Given the description of an element on the screen output the (x, y) to click on. 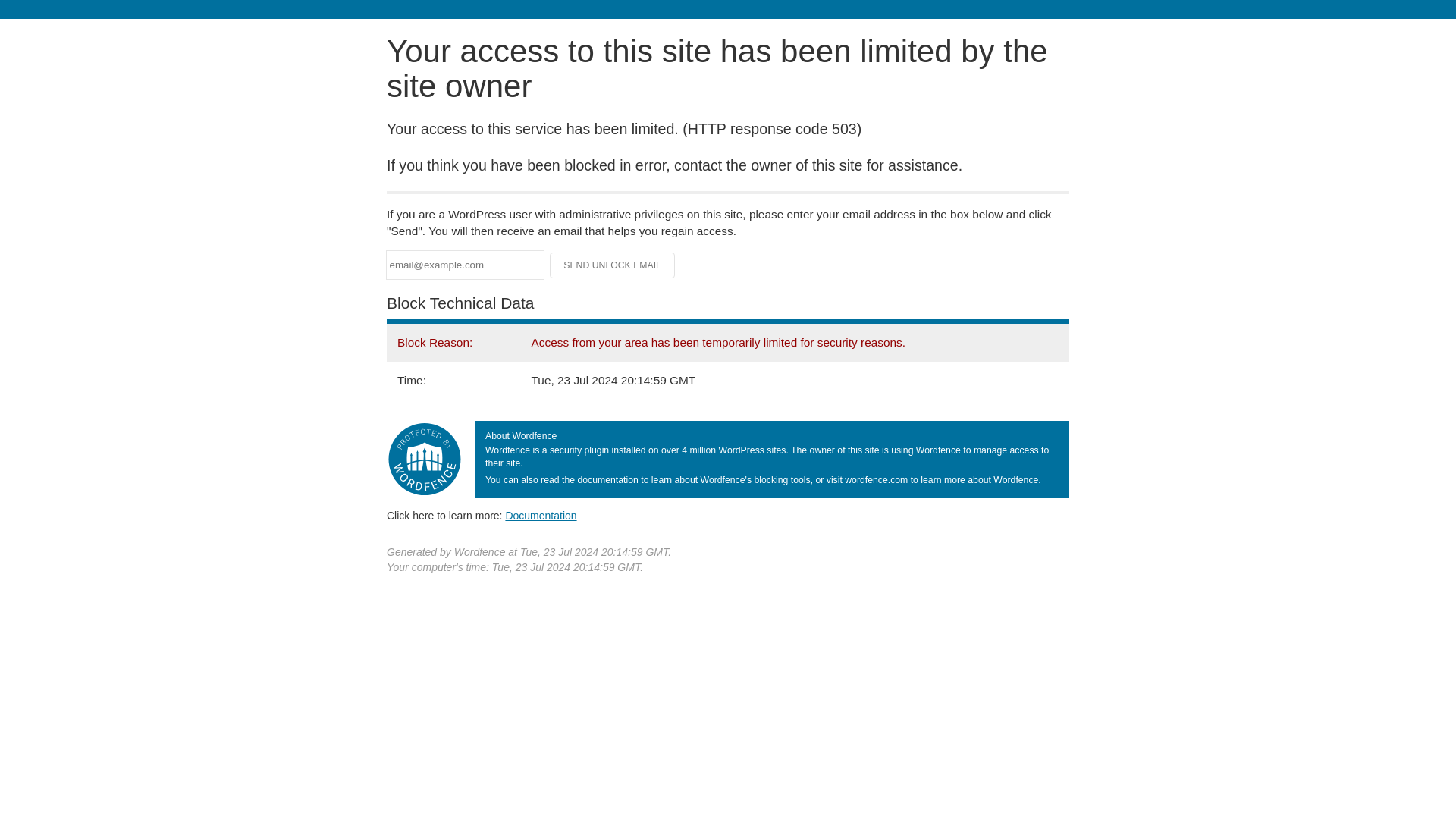
Documentation (540, 515)
Send Unlock Email (612, 265)
Send Unlock Email (612, 265)
